Given the description of an element on the screen output the (x, y) to click on. 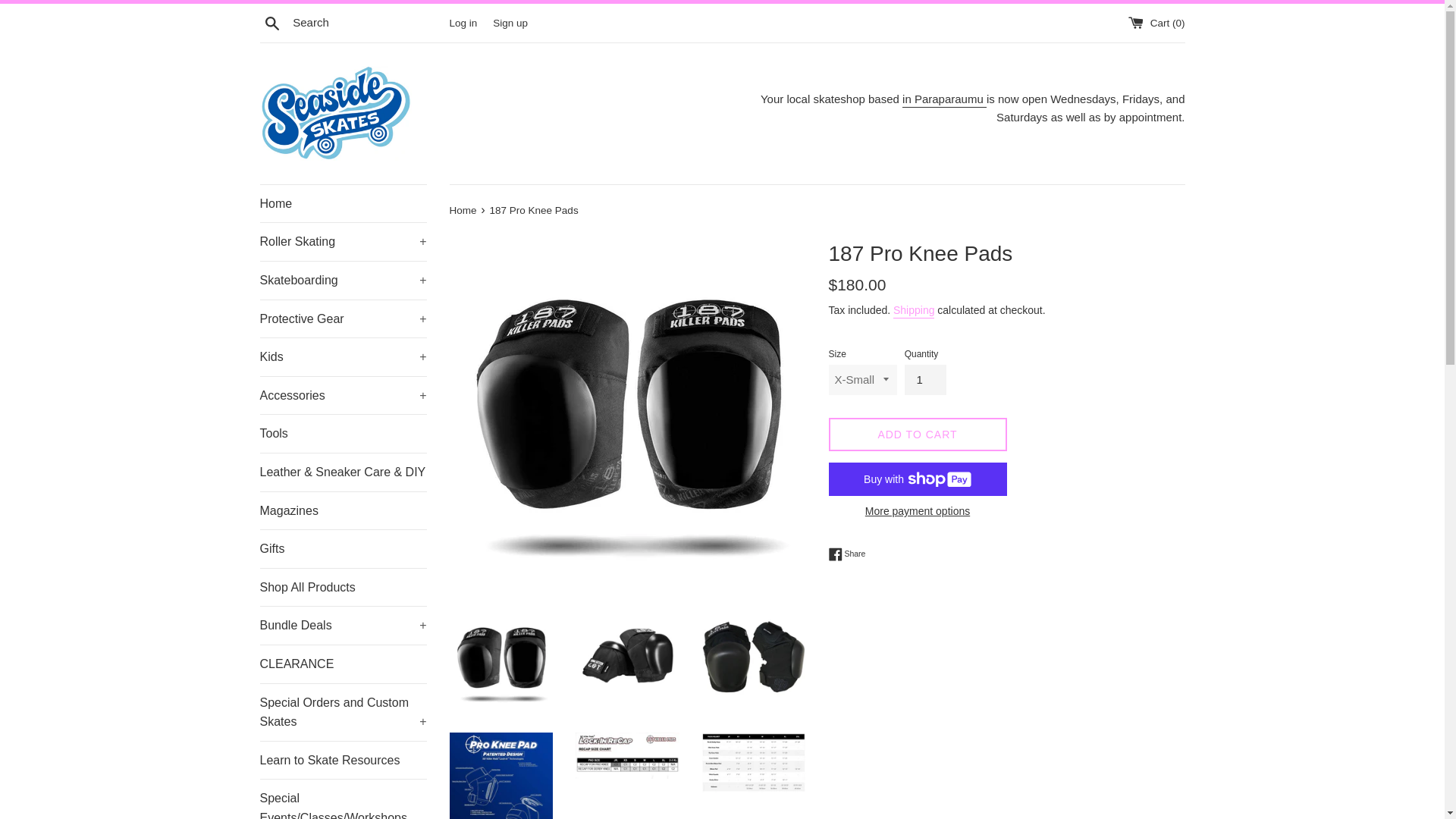
Search (271, 21)
1 (925, 379)
Back to the frontpage (463, 210)
Log in (462, 21)
Sign up (510, 21)
in Paraparaumu  (944, 99)
Share on Facebook (846, 554)
Home (342, 203)
Contact (944, 99)
